Given the description of an element on the screen output the (x, y) to click on. 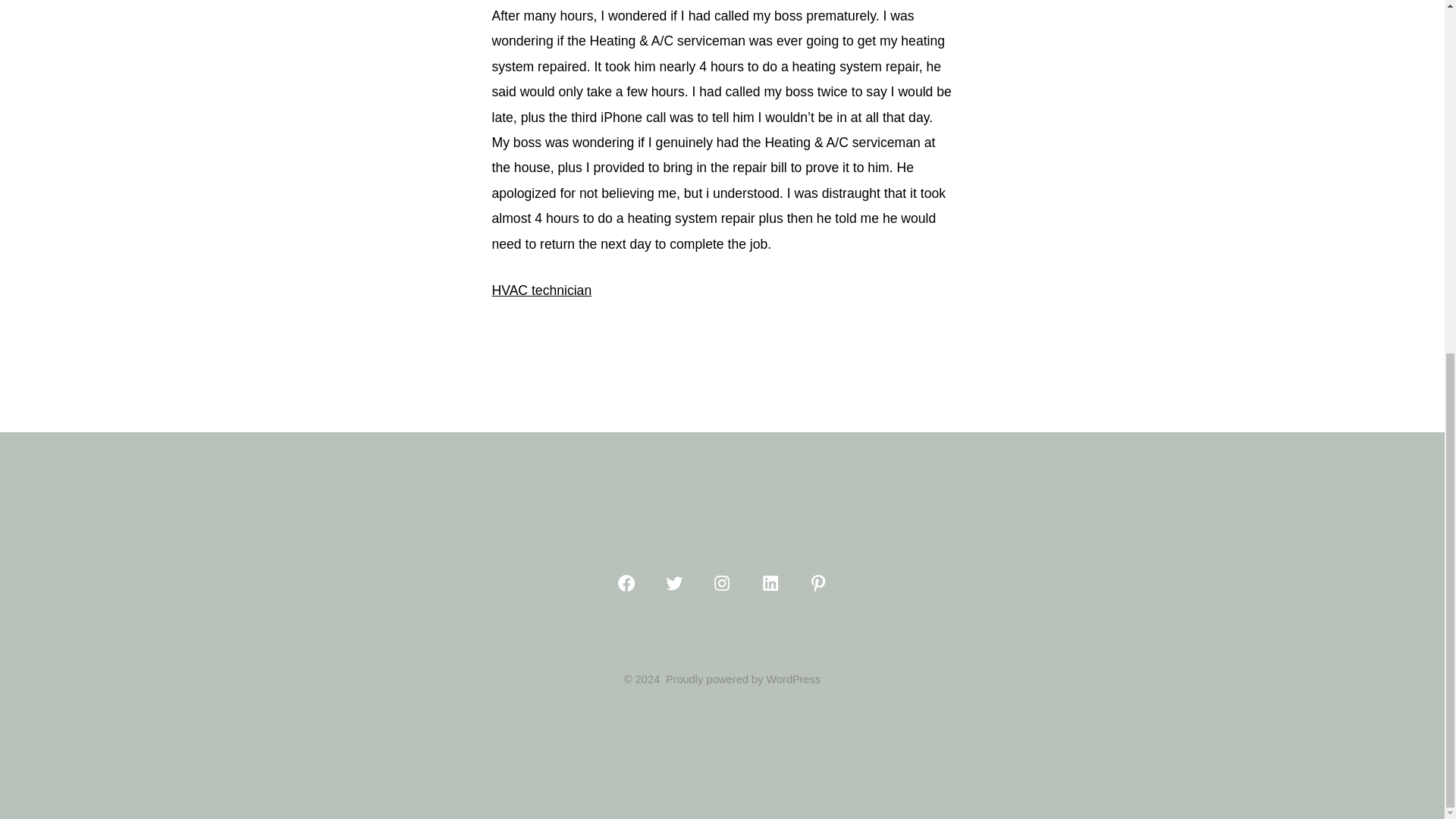
Open Instagram in a new tab (722, 583)
Open Facebook in a new tab (625, 583)
Open Twitter in a new tab (673, 583)
HVAC technician (541, 290)
Open Pinterest in a new tab (818, 583)
Open LinkedIn in a new tab (770, 583)
